Given the description of an element on the screen output the (x, y) to click on. 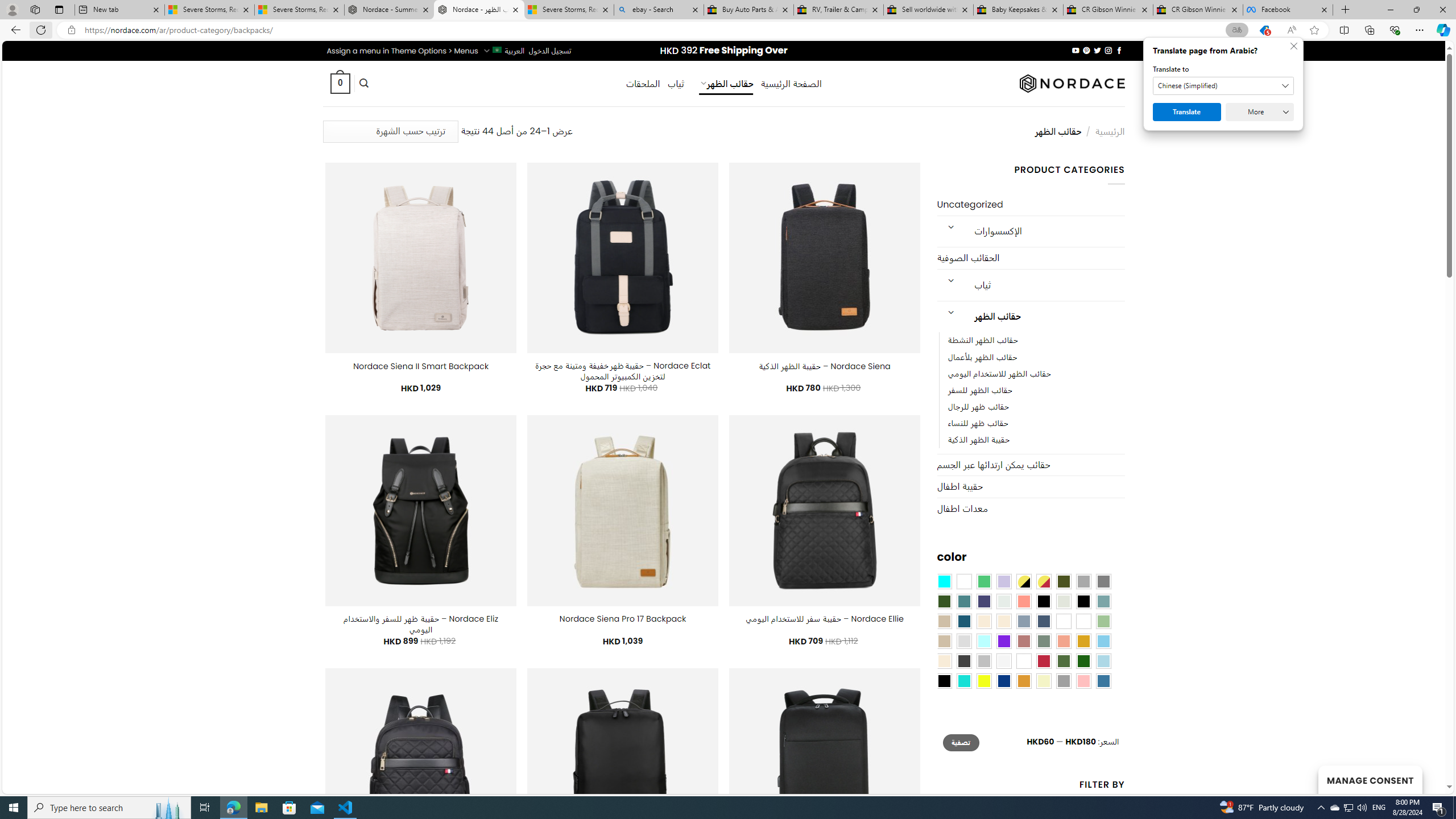
Light Taupe (944, 640)
Yellow-Red (1043, 581)
Follow on Twitter (1096, 50)
Facebook (1287, 9)
Nordace Siena II Smart Backpack (420, 365)
